Given the description of an element on the screen output the (x, y) to click on. 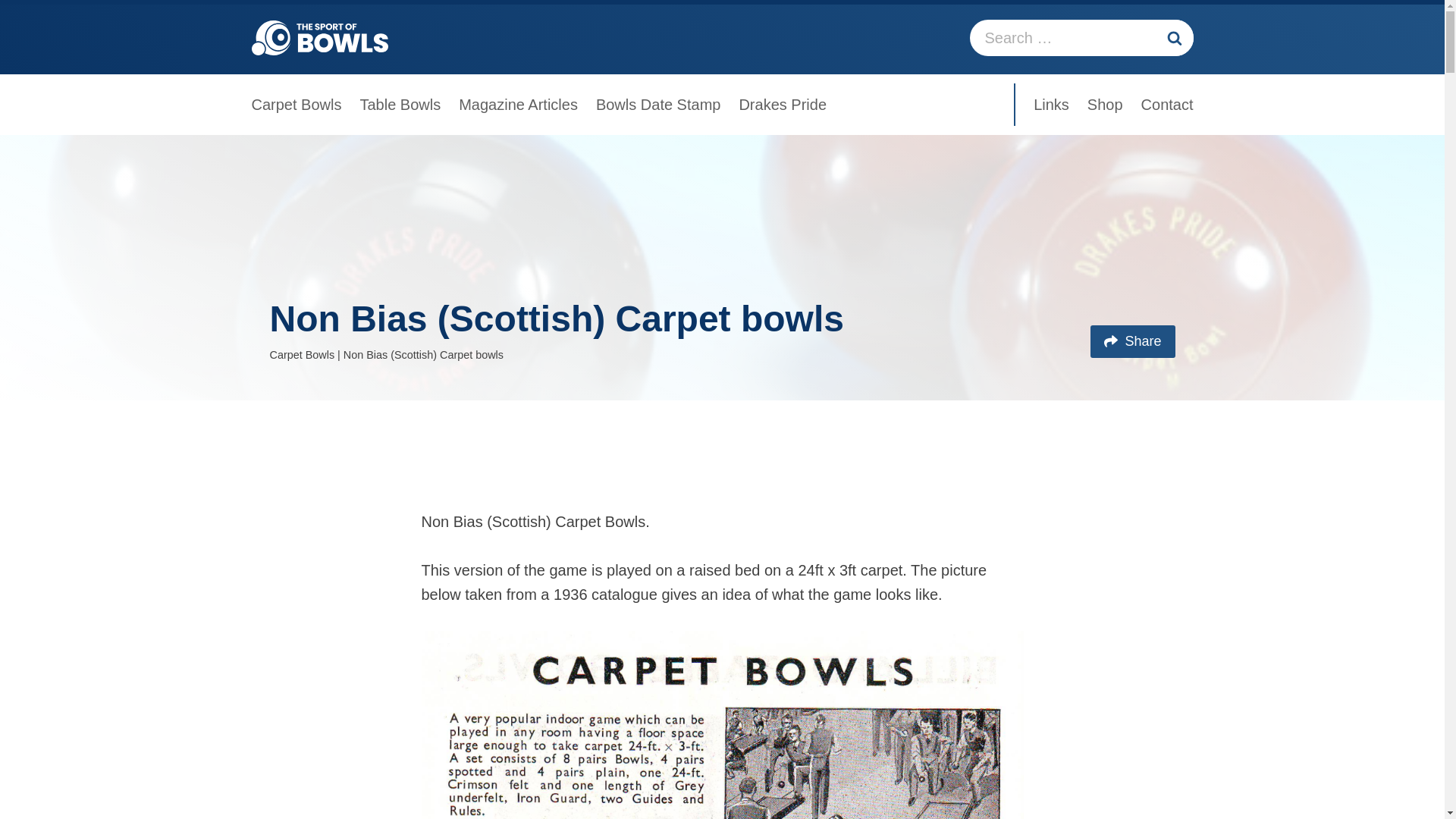
Table Bowls (399, 104)
Bowls Date Stamp (658, 104)
Search (1174, 37)
Contact (1162, 104)
Search (1174, 37)
Share (1132, 341)
Drakes Pride (778, 104)
Search (1174, 37)
Links (1055, 104)
Magazine Articles (517, 104)
Shop (1105, 104)
Carpet Bowls (300, 104)
